Given the description of an element on the screen output the (x, y) to click on. 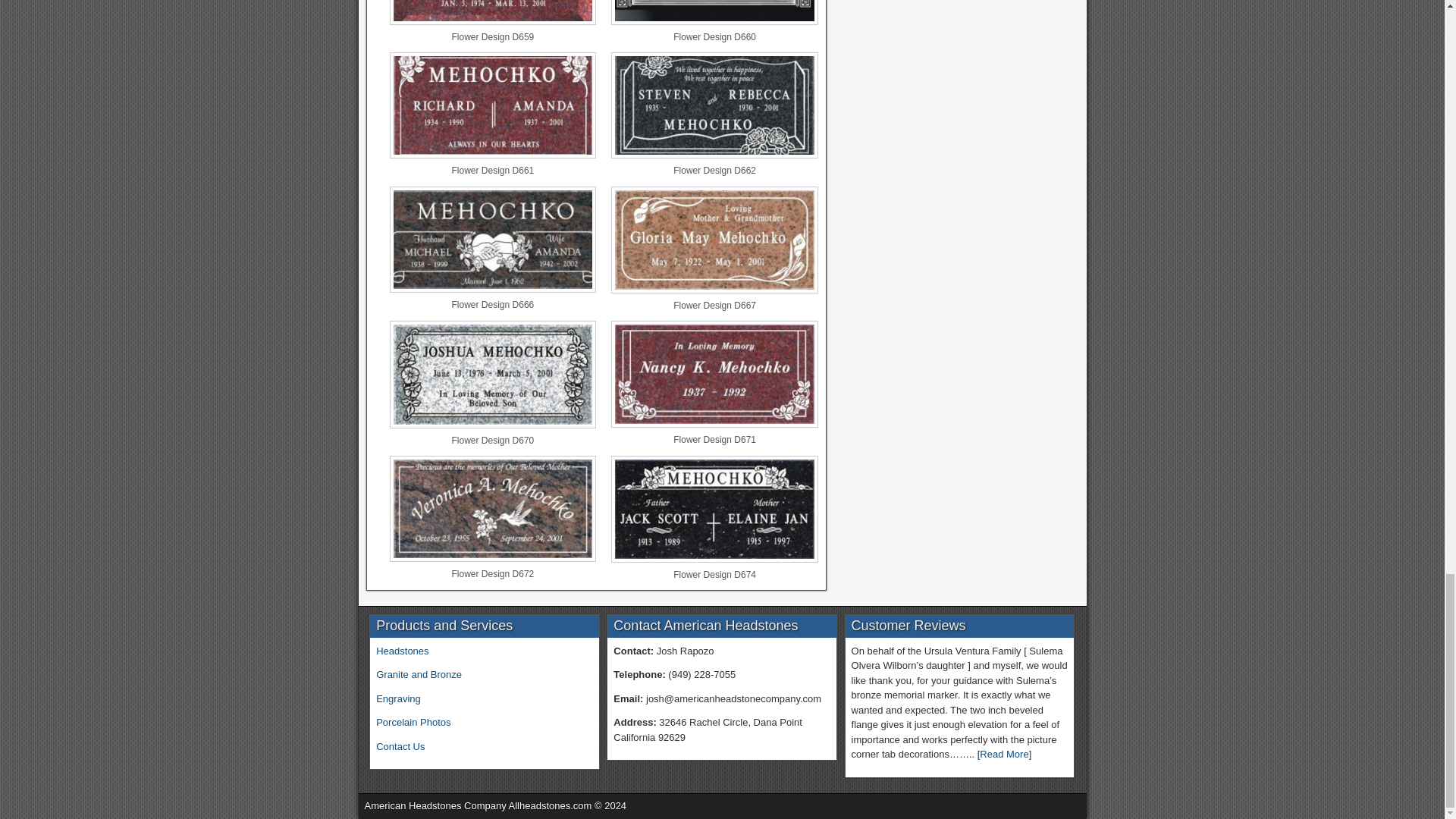
Engraving (397, 698)
Headstones (401, 650)
Porcelain Photos (412, 722)
Granite and Bronze Designs (418, 674)
